Given the description of an element on the screen output the (x, y) to click on. 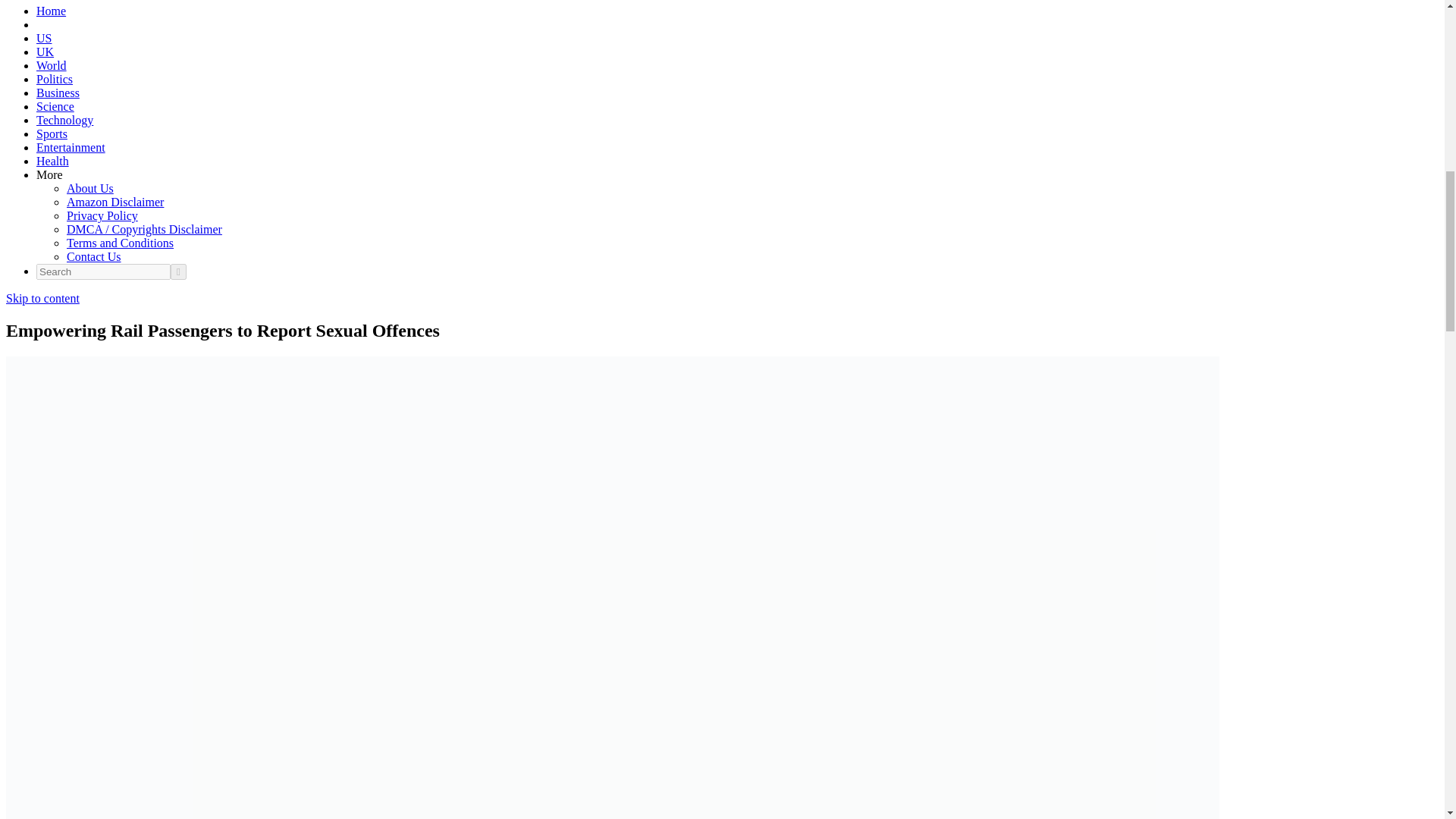
Health (52, 160)
Business (58, 92)
World (51, 65)
Politics (54, 78)
Science (55, 106)
UK (44, 51)
Sports (51, 133)
More (49, 174)
Amazon Disclaimer (114, 201)
US (43, 38)
Entertainment (70, 146)
About Us (89, 187)
Technology (64, 119)
Home (50, 10)
